Given the description of an element on the screen output the (x, y) to click on. 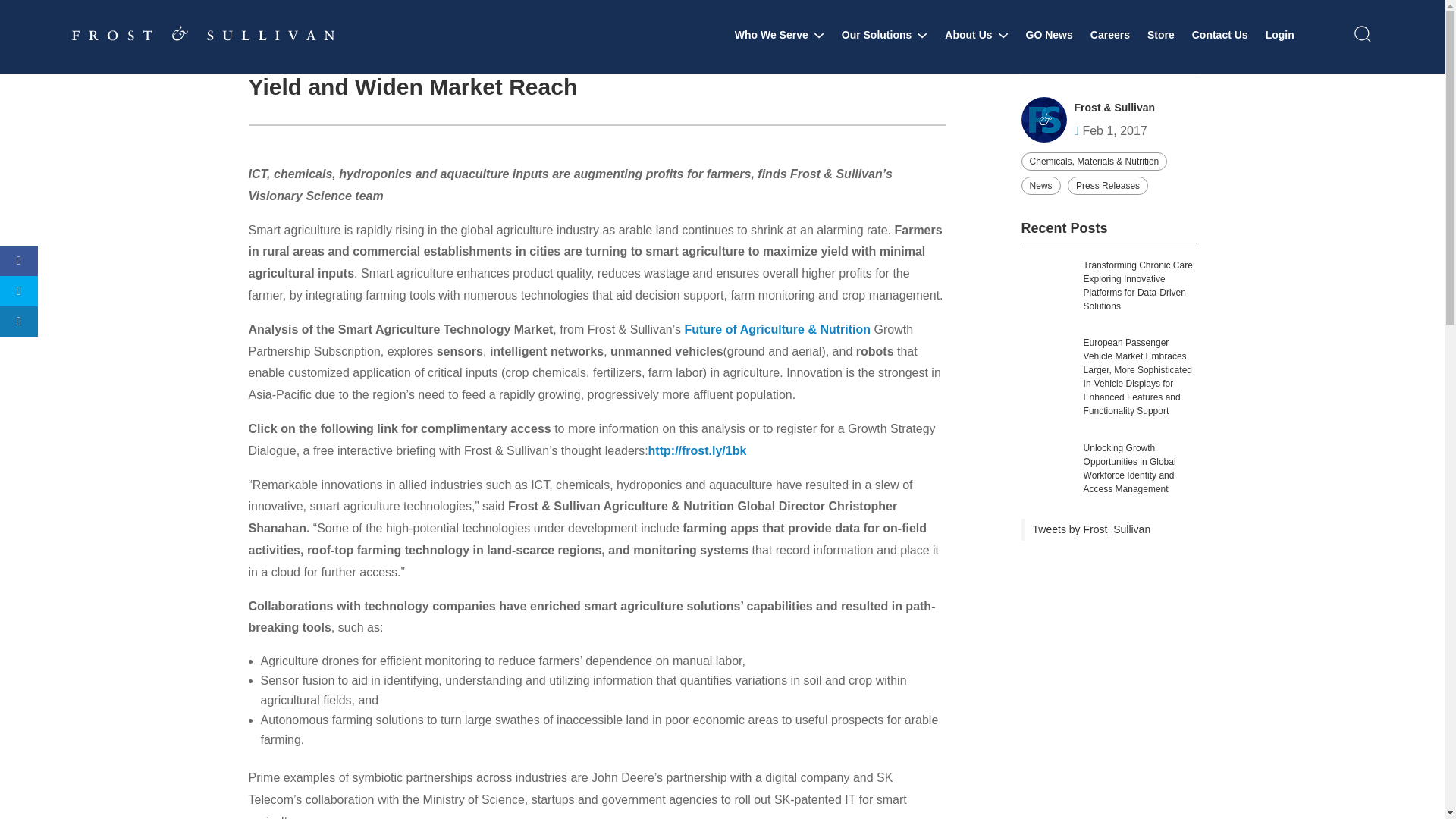
Who We Serve (779, 35)
Search (1172, 59)
